Given the description of an element on the screen output the (x, y) to click on. 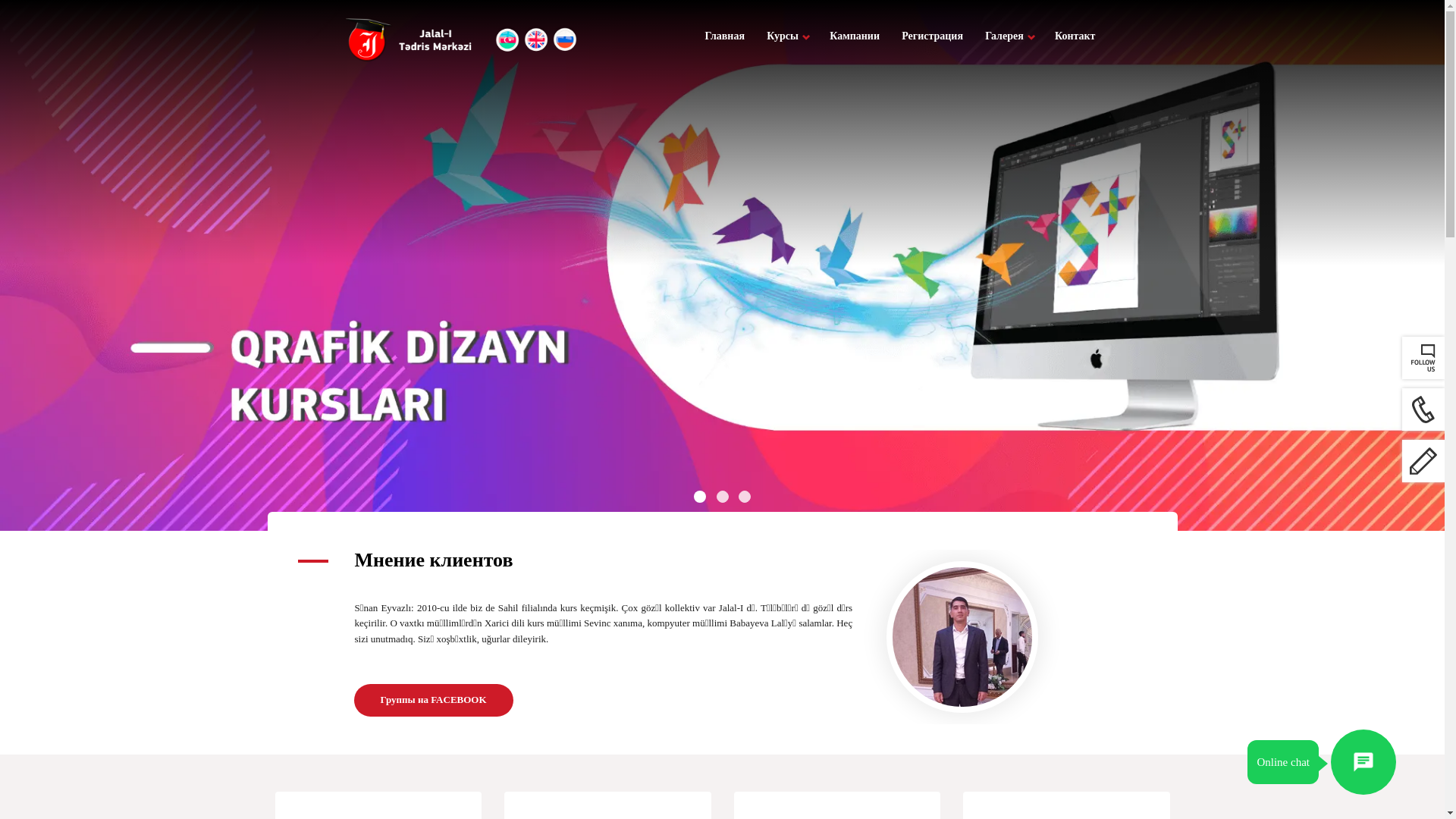
Lorem ipsum dolor sit amet Element type: hover (491, 690)
